Given the description of an element on the screen output the (x, y) to click on. 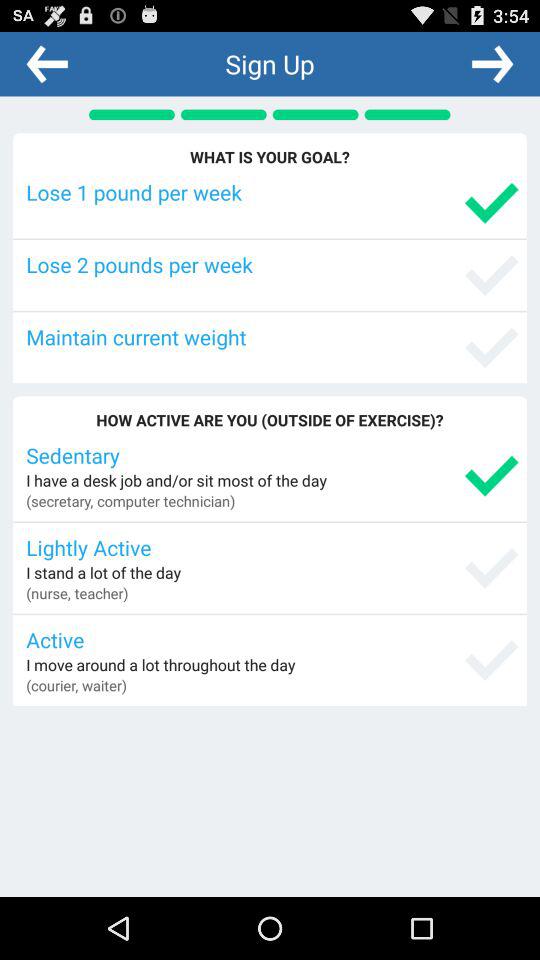
press the app above i have a icon (272, 454)
